Given the description of an element on the screen output the (x, y) to click on. 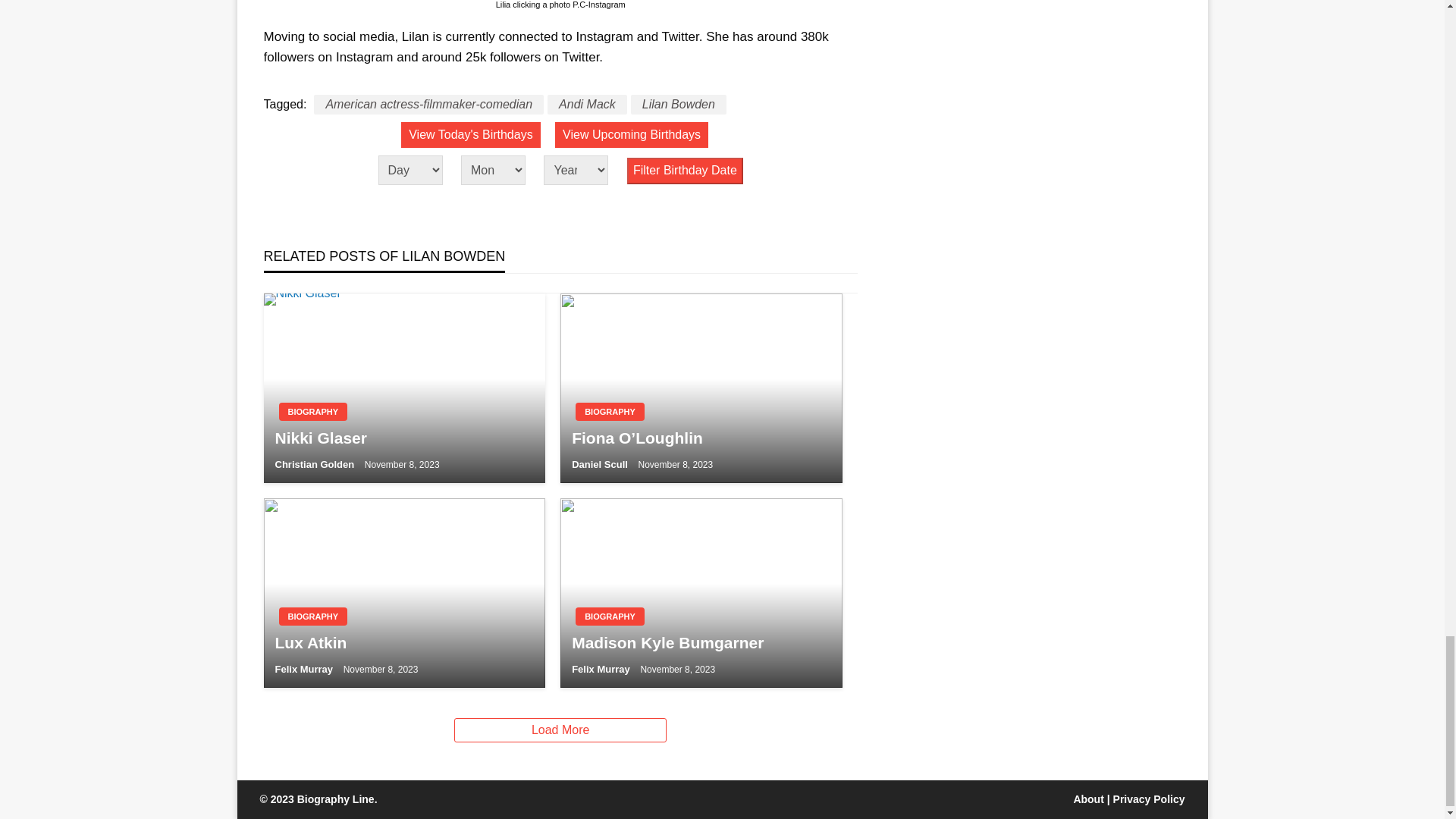
Filter Birthday Date (684, 171)
